Given the description of an element on the screen output the (x, y) to click on. 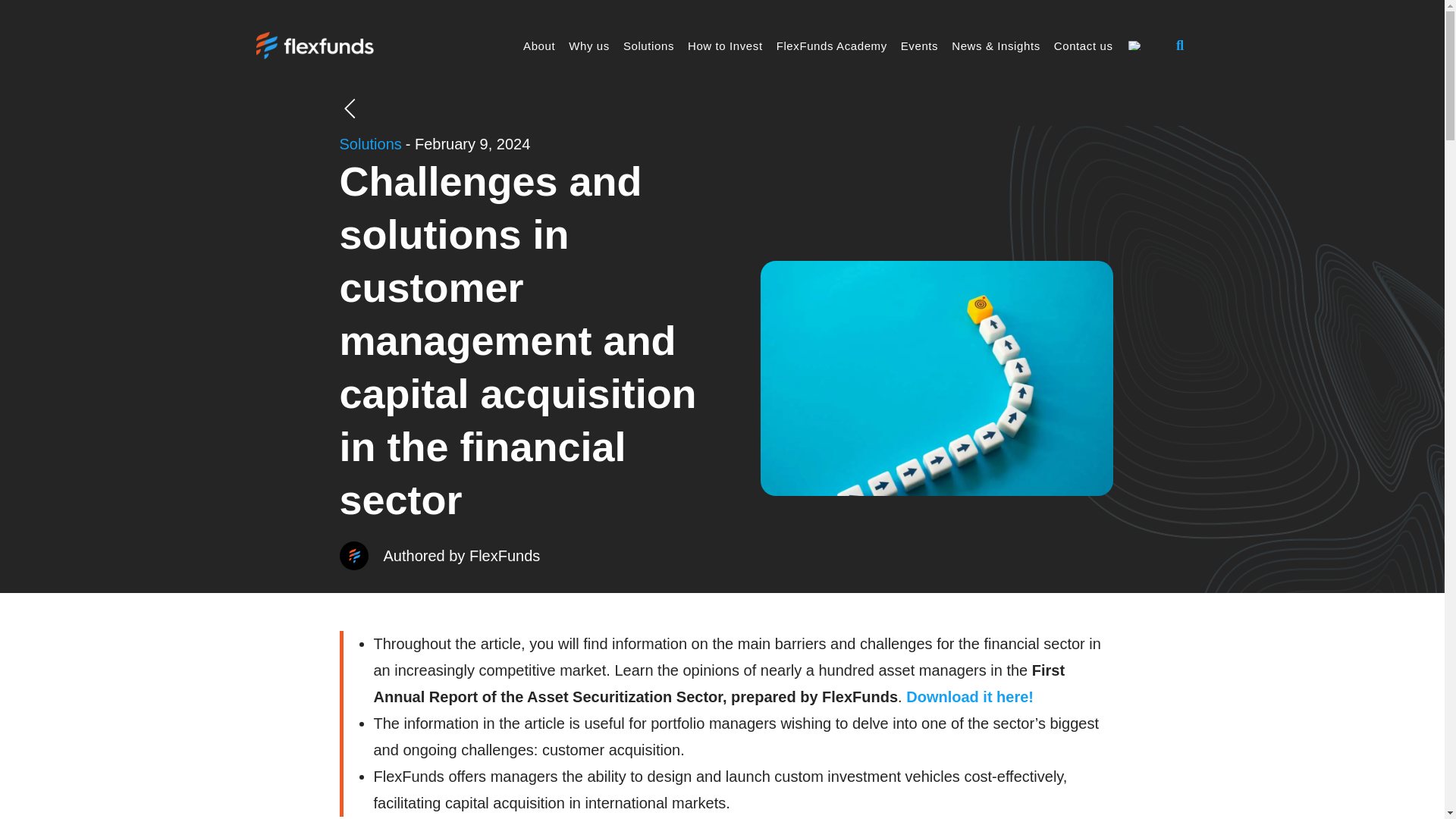
Solutions (648, 45)
FlexFunds Academy (831, 45)
Solutions (370, 143)
Download it here! (969, 696)
Contact us (1082, 45)
How to Invest (725, 45)
Why us (588, 45)
About (539, 45)
Events (918, 45)
